Given the description of an element on the screen output the (x, y) to click on. 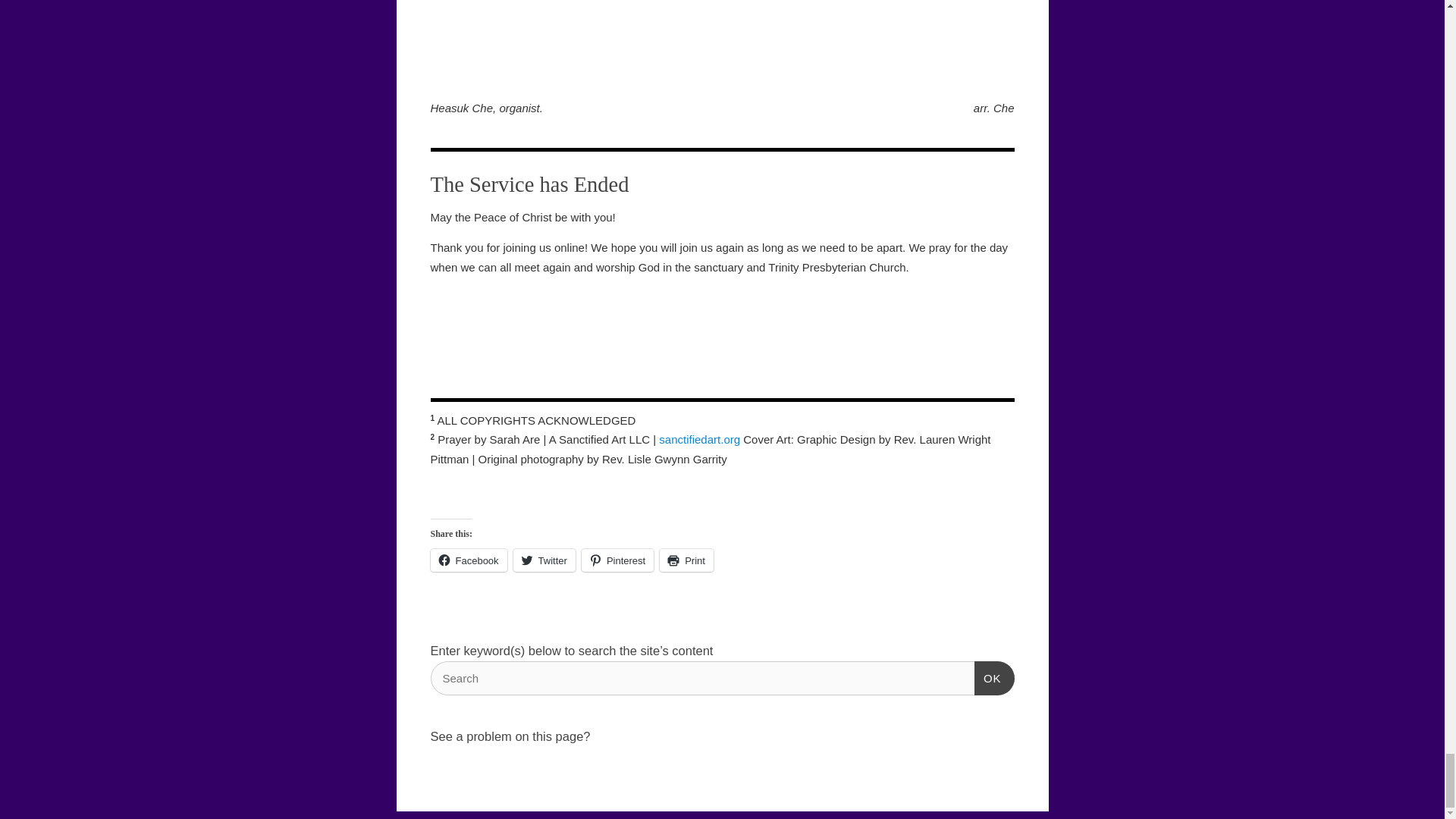
Click to share on Pinterest (616, 559)
Click to share on Twitter (544, 559)
Click to print (686, 559)
Click to share on Facebook (468, 559)
